Given the description of an element on the screen output the (x, y) to click on. 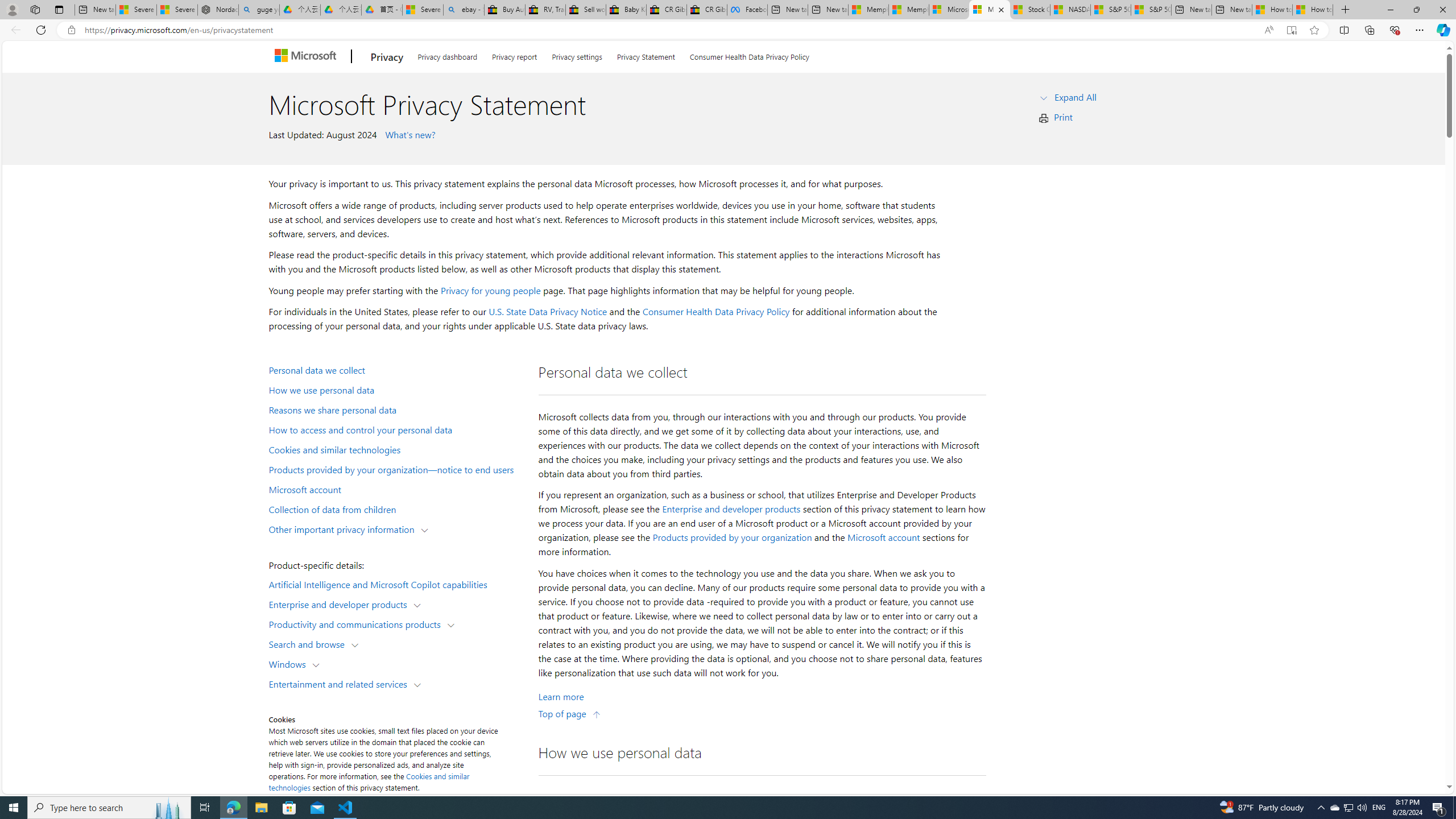
guge yunpan - Search (258, 9)
Privacy settings (577, 54)
Productivity and communications products (356, 623)
Learn More about Personal data we collect (560, 696)
U.S. State Data Privacy Notice (548, 311)
Other important privacy information (343, 528)
